Given the description of an element on the screen output the (x, y) to click on. 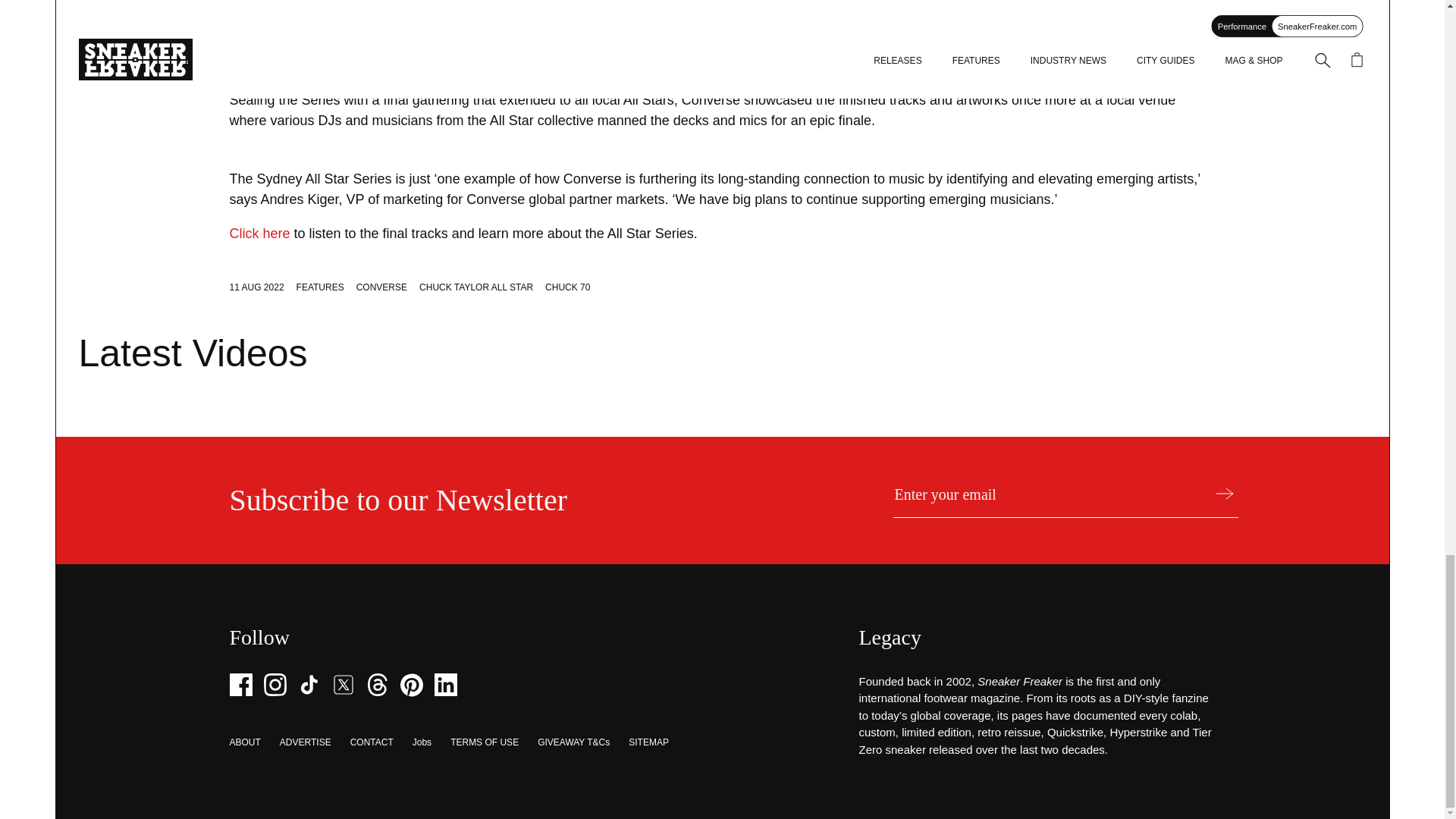
TERMS OF USE (483, 742)
Click here (258, 233)
CONTACT (371, 742)
FEATURES (320, 286)
SITEMAP (648, 742)
CHUCK 70 (566, 286)
CONVERSE (381, 286)
ABOUT (244, 742)
Jobs (421, 742)
ADVERTISE (305, 742)
